Given the description of an element on the screen output the (x, y) to click on. 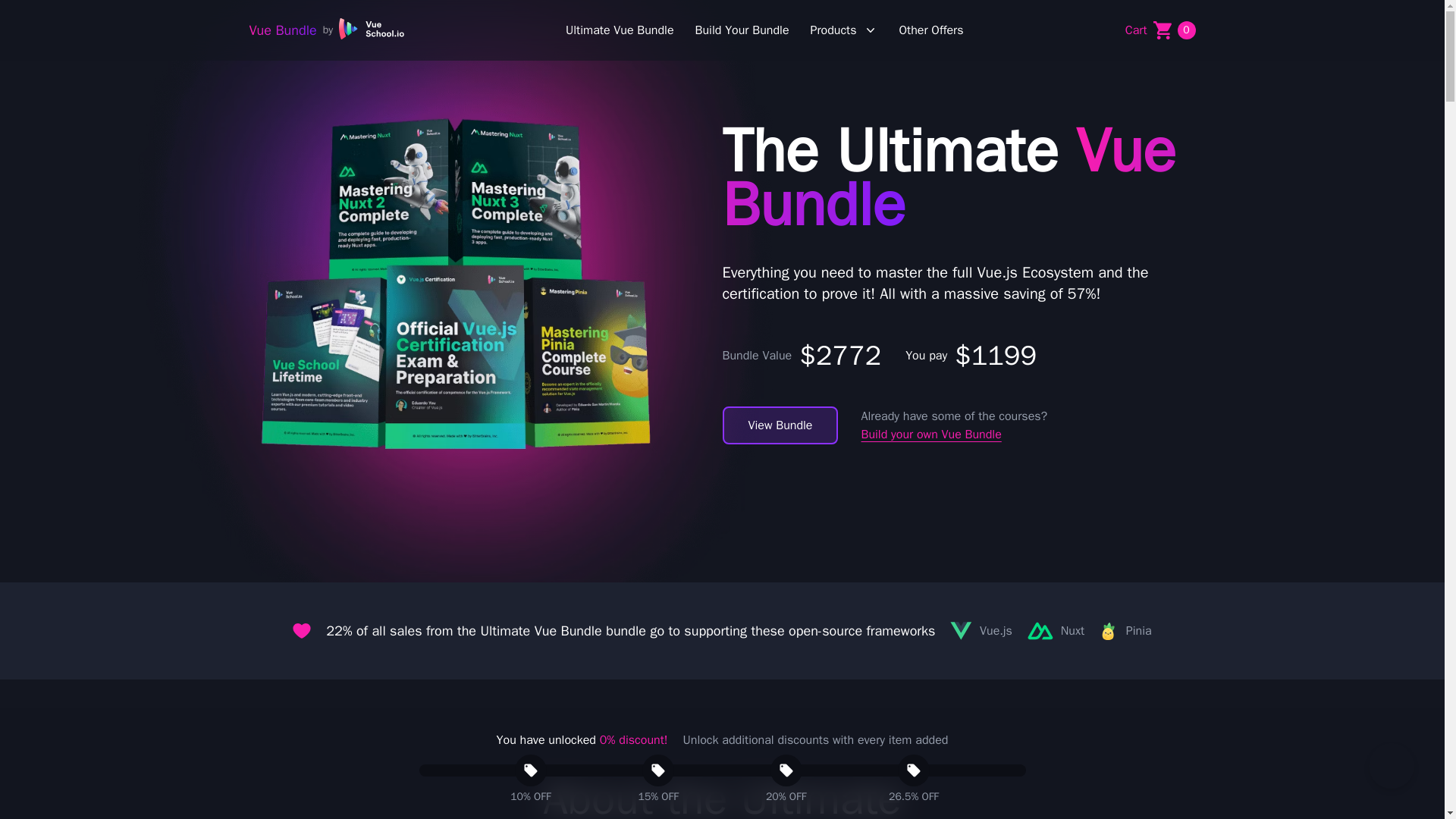
Build Your Bundle (742, 29)
View Bundle (780, 425)
Build your own Vue Bundle (930, 434)
Ultimate Vue Bundle (620, 29)
Products (1160, 30)
Other Offers (325, 30)
